Given the description of an element on the screen output the (x, y) to click on. 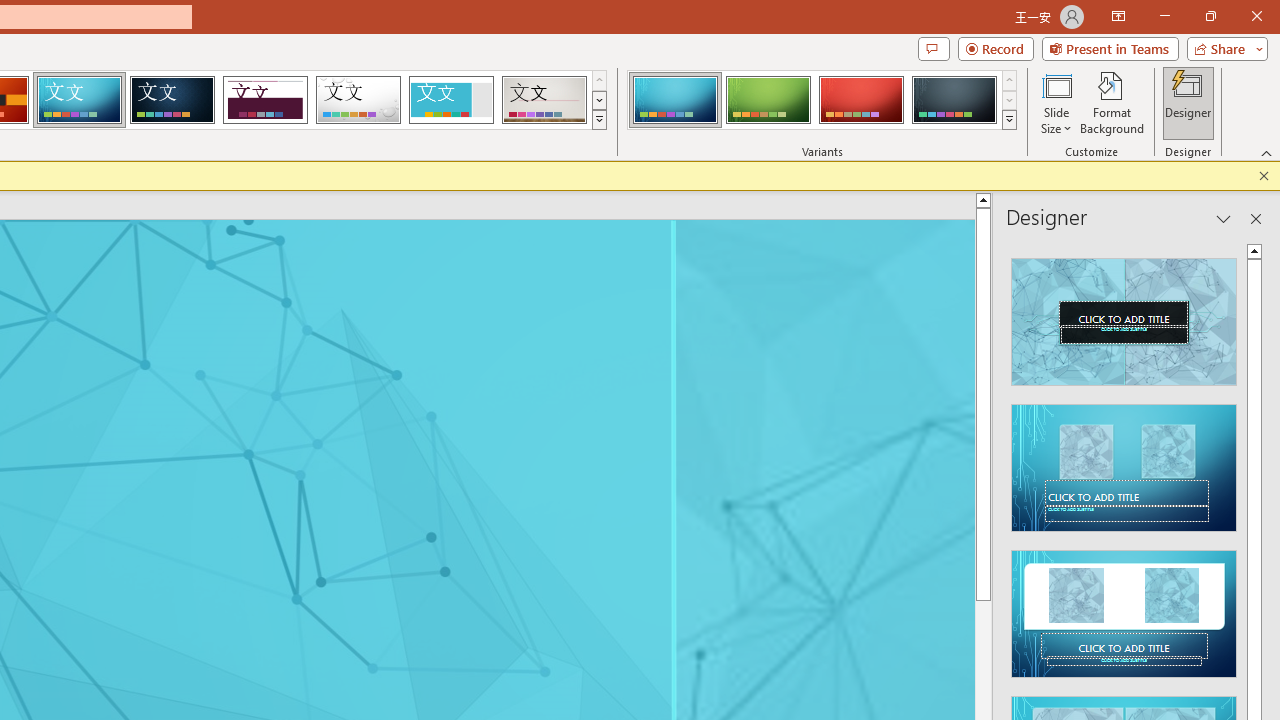
Close this message (1263, 176)
Circuit Variant 4 (953, 100)
Design Idea (1124, 607)
Circuit Variant 2 (768, 100)
Circuit (79, 100)
AutomationID: ThemeVariantsGallery (822, 99)
Frame (450, 100)
